Given the description of an element on the screen output the (x, y) to click on. 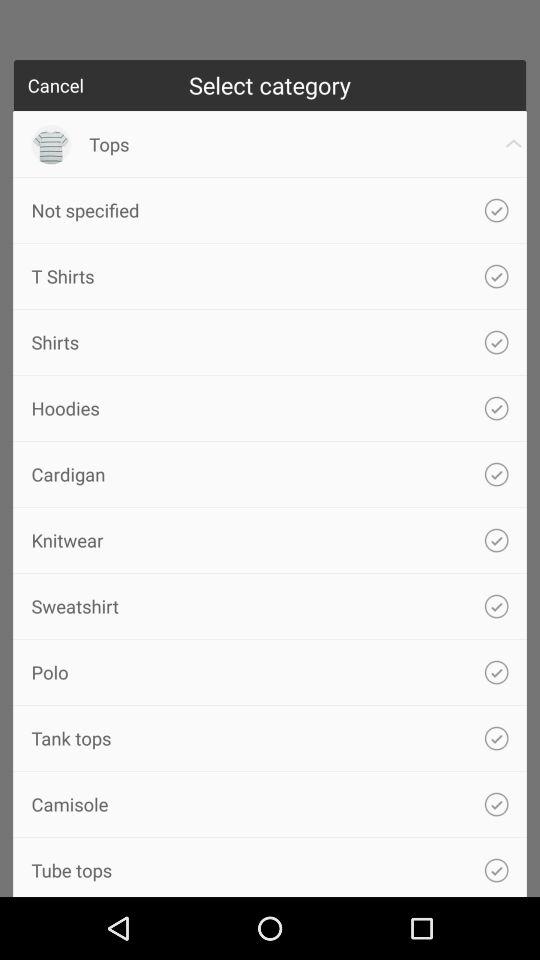
tap cancel icon (55, 85)
